Given the description of an element on the screen output the (x, y) to click on. 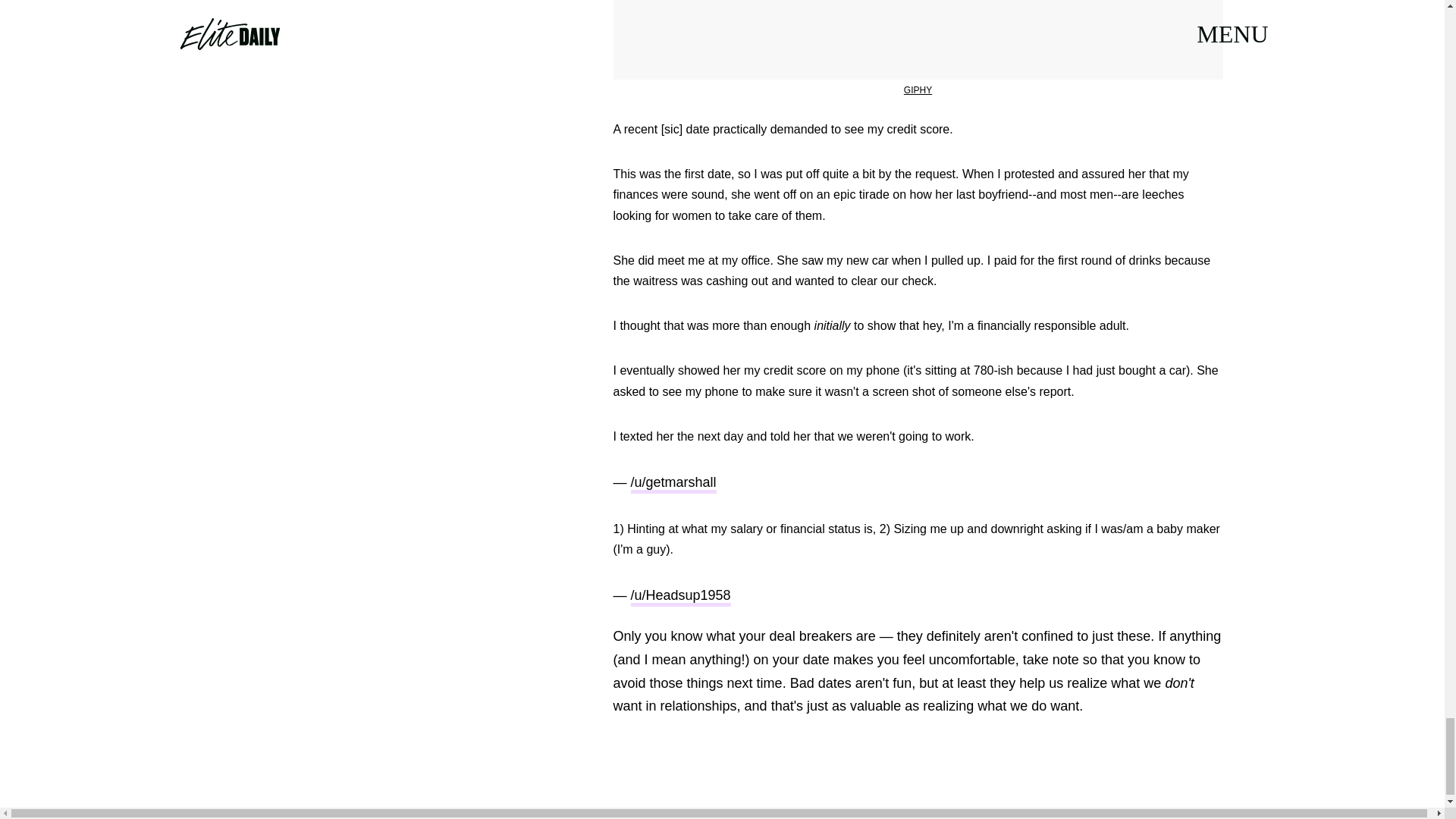
GIPHY (917, 90)
